Given the description of an element on the screen output the (x, y) to click on. 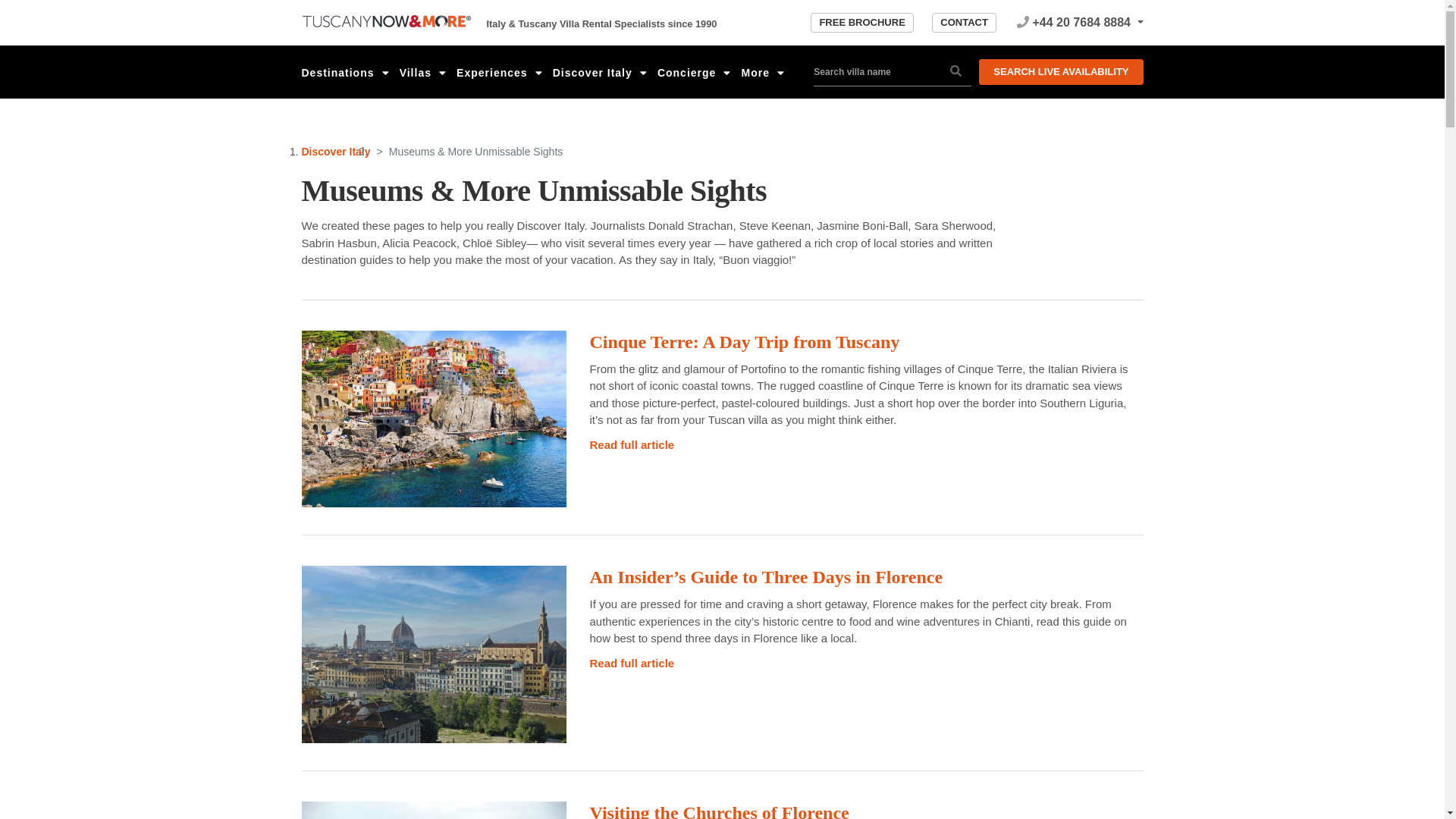
Villas (421, 72)
CONTACT (963, 22)
Destinations (347, 72)
FREE BROCHURE (861, 22)
